Given the description of an element on the screen output the (x, y) to click on. 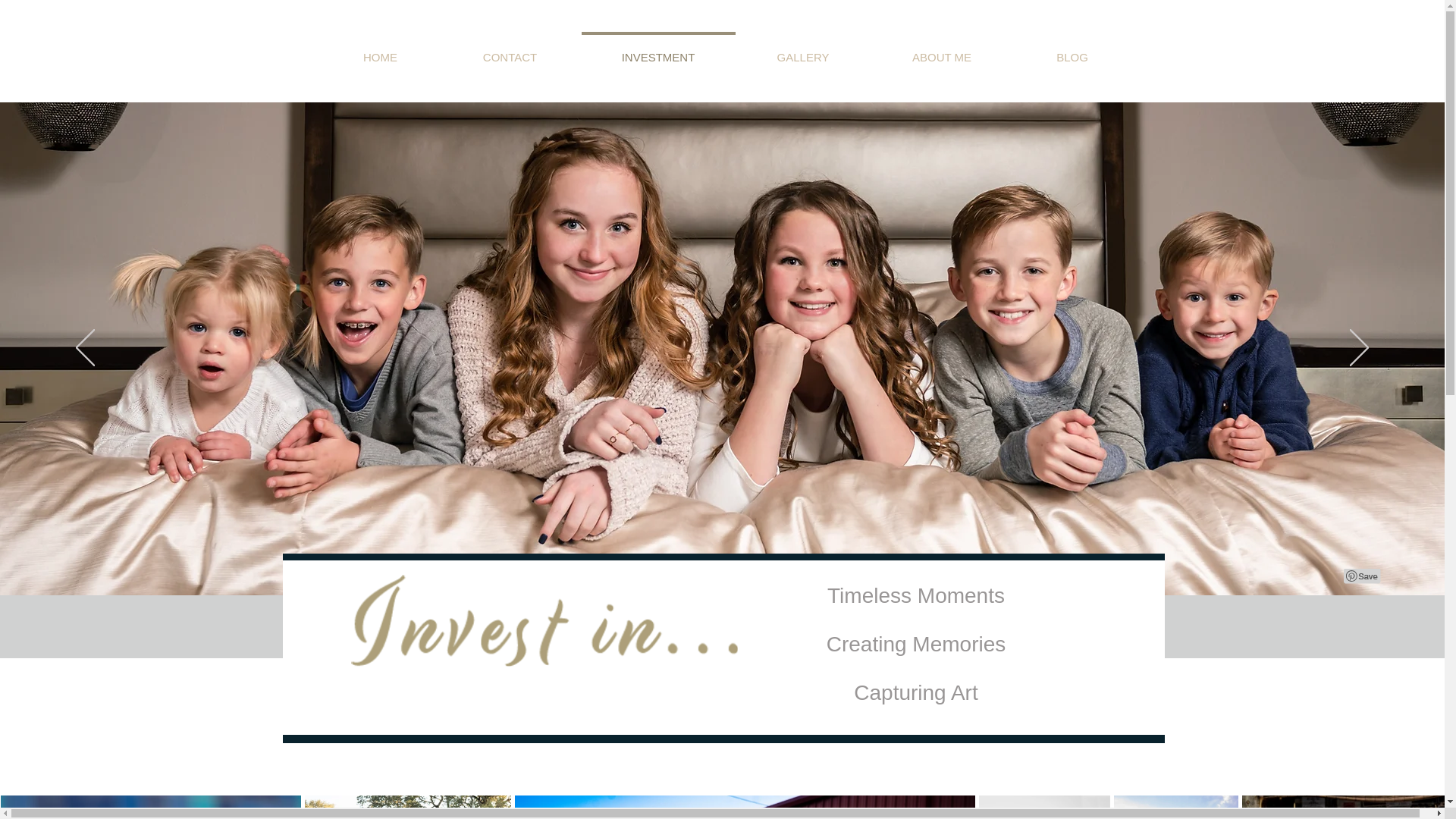
BLOG (1072, 50)
GALLERY (802, 50)
HOME (379, 50)
INVESTMENT (657, 50)
Pin to Pinterest (1362, 575)
CONTACT (509, 50)
ABOUT ME (941, 50)
